Given the description of an element on the screen output the (x, y) to click on. 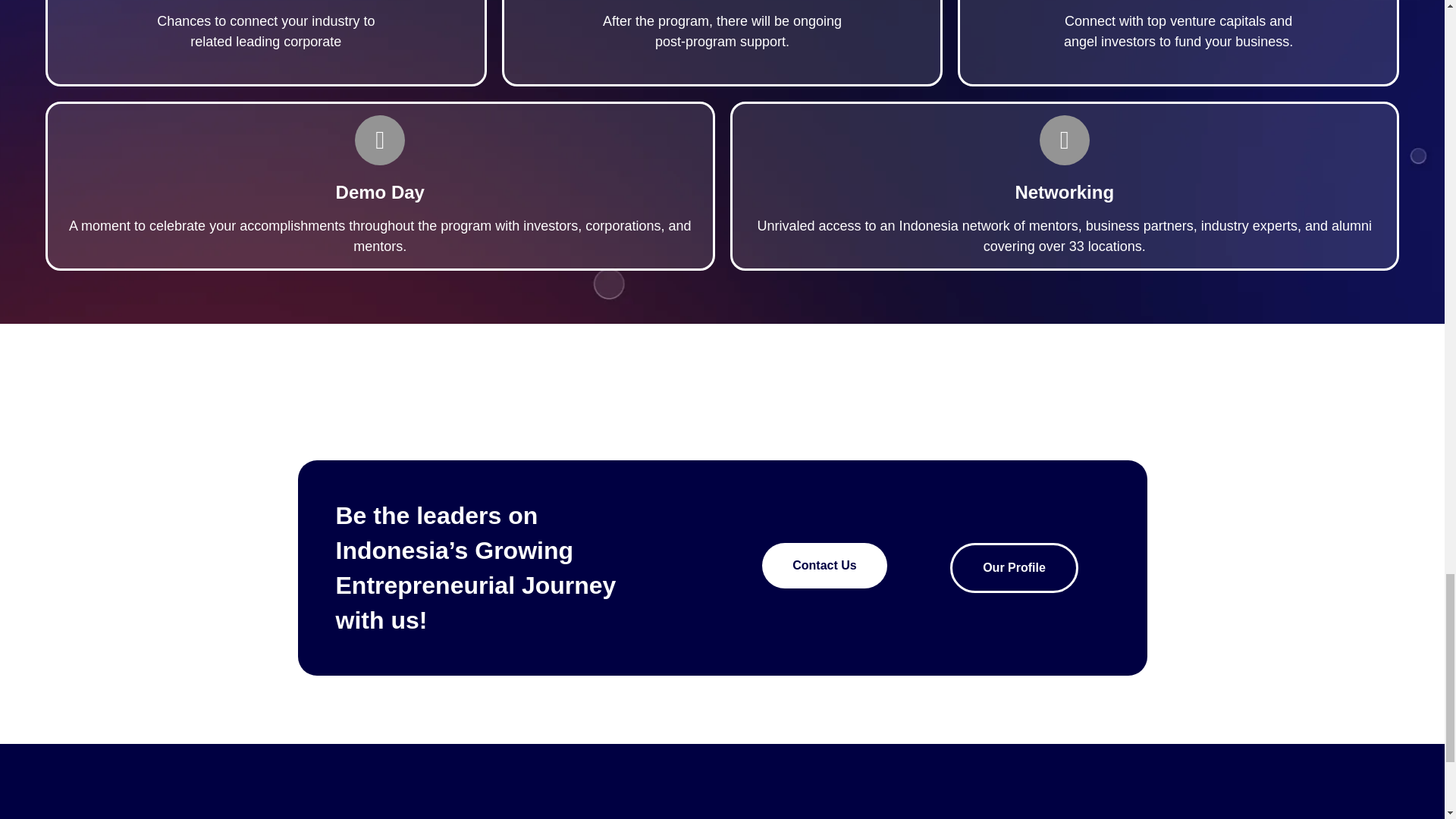
Our Profile (1014, 567)
Contact Us (823, 565)
